Given the description of an element on the screen output the (x, y) to click on. 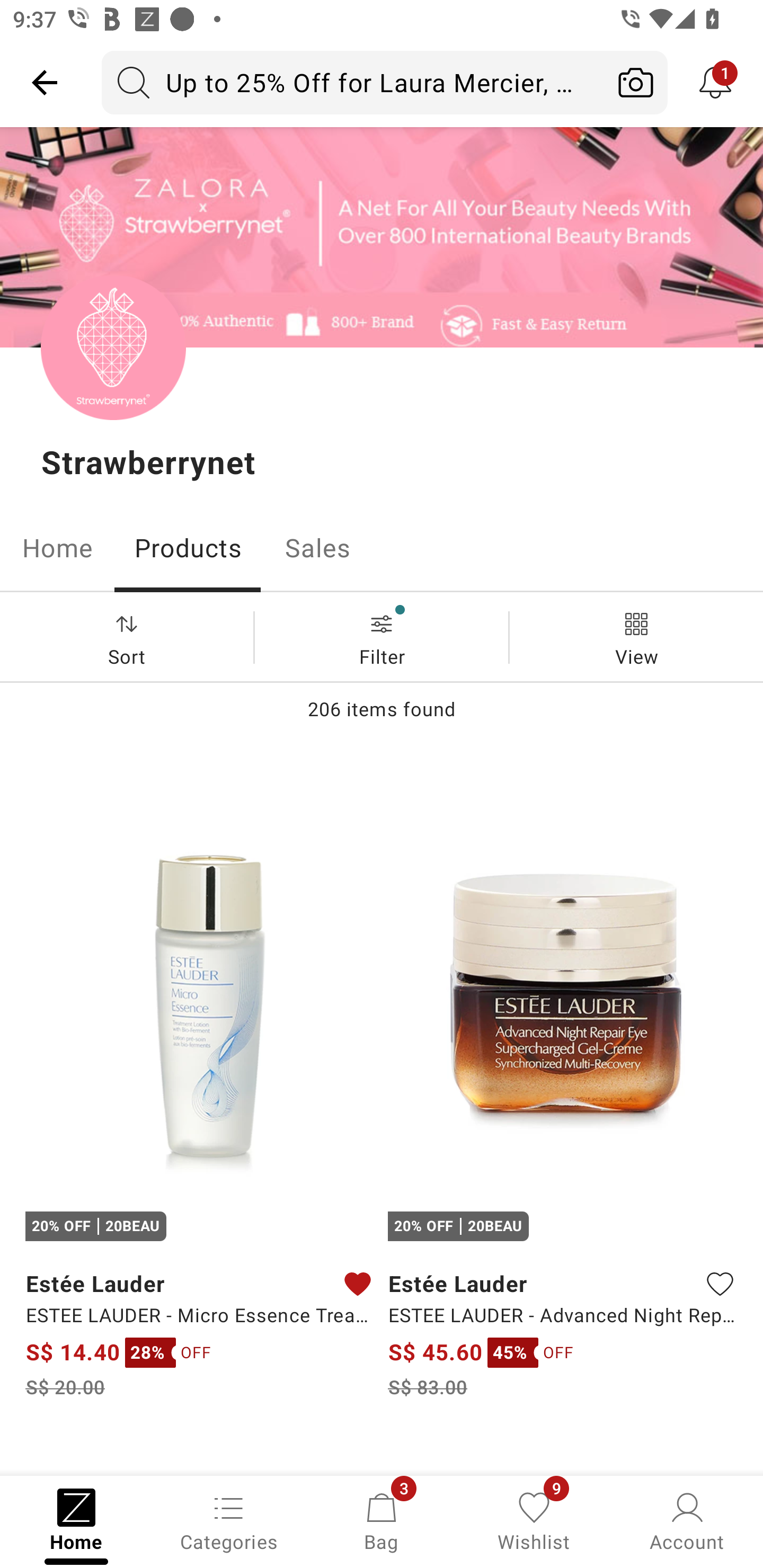
Navigate up (44, 82)
Home (57, 547)
Sales (317, 547)
Categories (228, 1519)
Bag, 3 new notifications Bag (381, 1519)
Wishlist, 9 new notifications Wishlist (533, 1519)
Account (686, 1519)
